Given the description of an element on the screen output the (x, y) to click on. 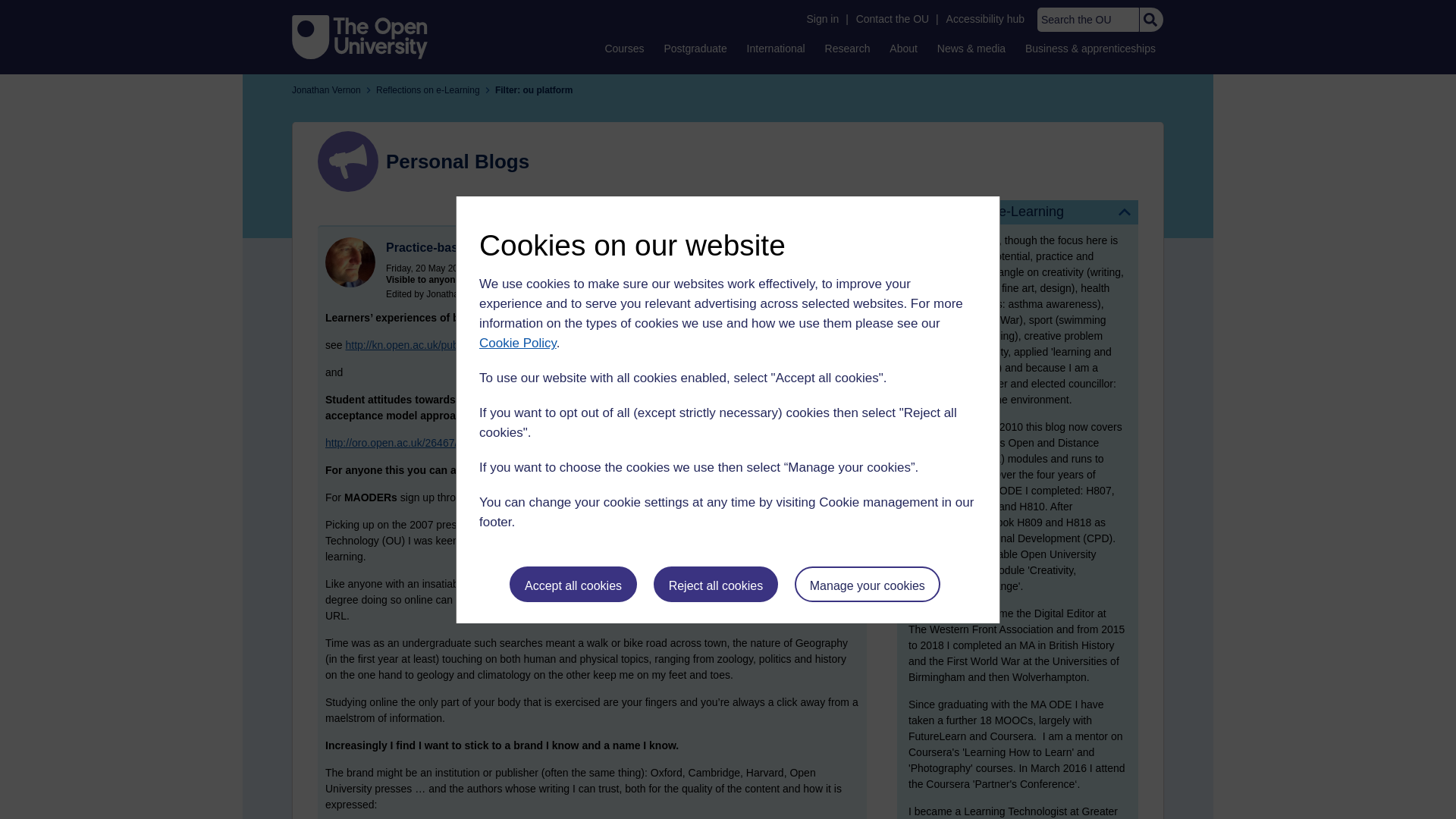
Accept all cookies (573, 583)
Search (1149, 19)
Search (1149, 19)
About (903, 48)
Accessibility hub (985, 19)
Cookie Policy (517, 342)
International (775, 48)
The Open University (360, 36)
Reflections on e-Learning (1017, 211)
Manage your cookies (867, 583)
